Given the description of an element on the screen output the (x, y) to click on. 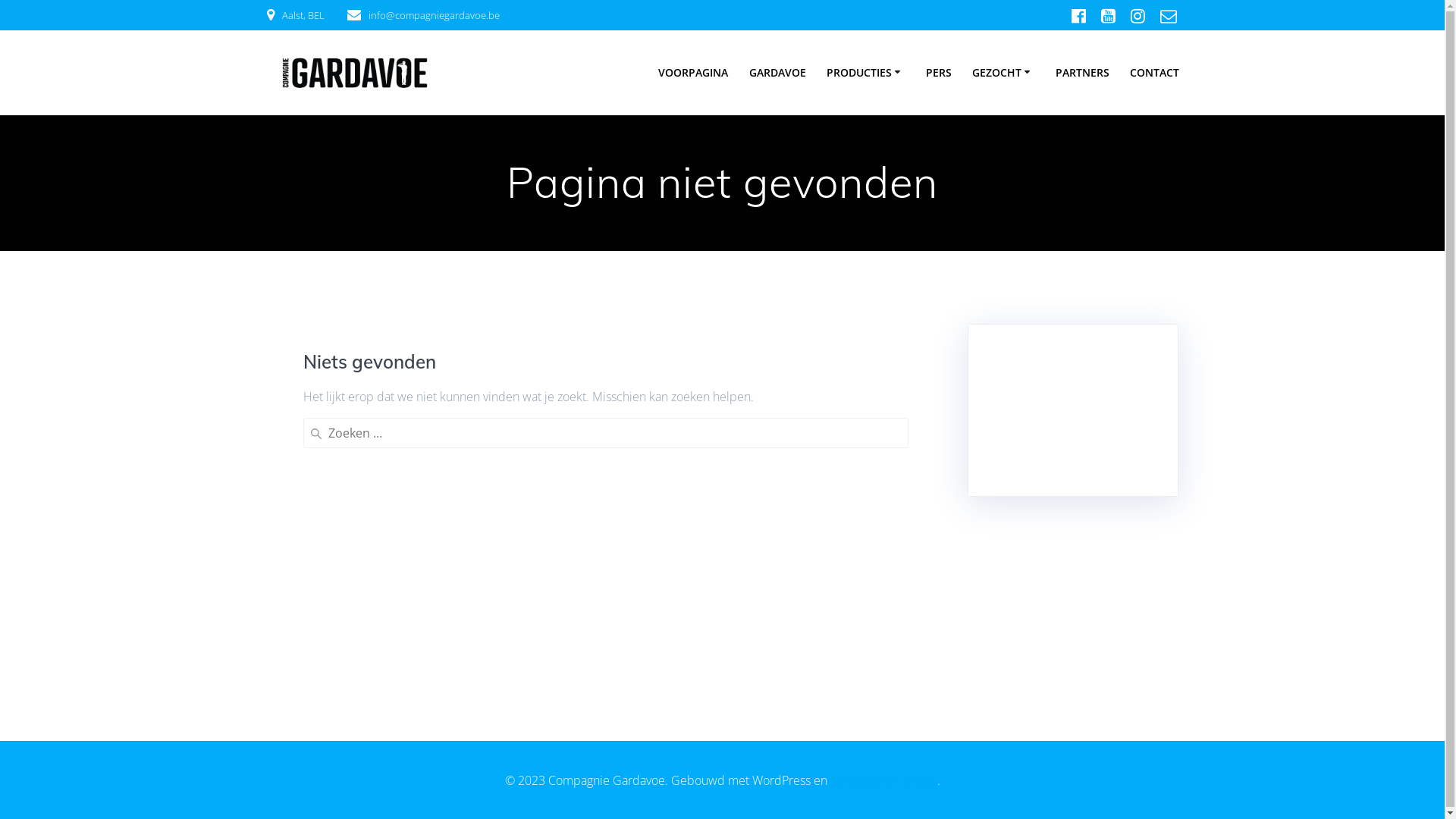
Trailer CONFITUUR // de dans van de roze balletten Element type: hover (1071, 397)
PERS Element type: text (938, 72)
VOORPAGINA Element type: text (693, 72)
EmpowerWP thema Element type: text (882, 779)
GARDAVOE Element type: text (777, 72)
CONTACT Element type: text (1154, 72)
PARTNERS Element type: text (1082, 72)
GEZOCHT Element type: text (1003, 72)
PRODUCTIES Element type: text (865, 72)
